Given the description of an element on the screen output the (x, y) to click on. 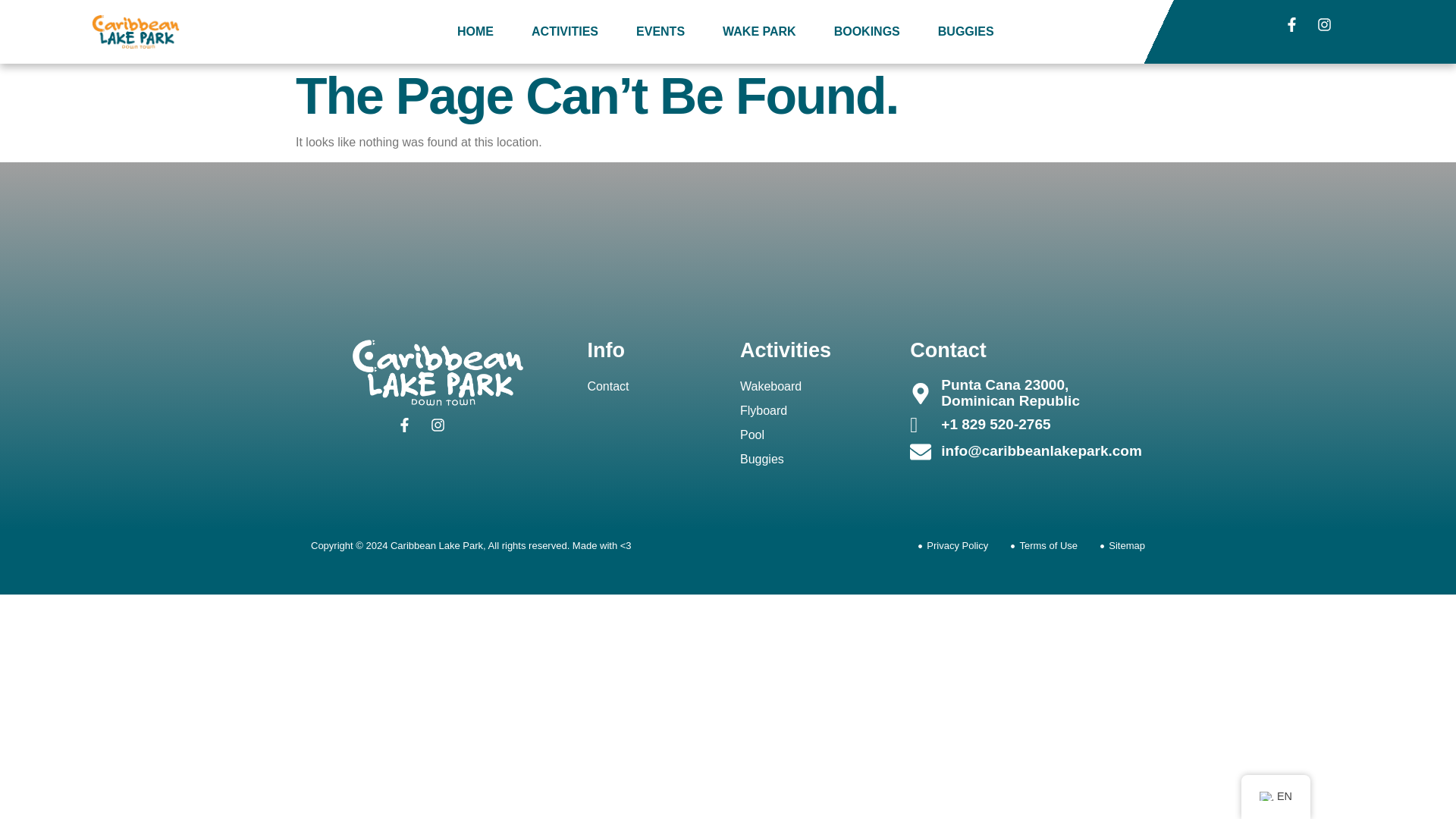
EVENTS (660, 31)
Flyboard (812, 411)
Buggies (812, 459)
BOOKINGS (866, 31)
Terms of Use (1043, 546)
HOME (475, 31)
Pool (812, 434)
Sitemap (1122, 546)
BUGGIES (965, 31)
ACTIVITIES (564, 31)
Privacy Policy (953, 546)
Contact (651, 386)
WAKE PARK (759, 31)
Wakeboard (812, 386)
